Given the description of an element on the screen output the (x, y) to click on. 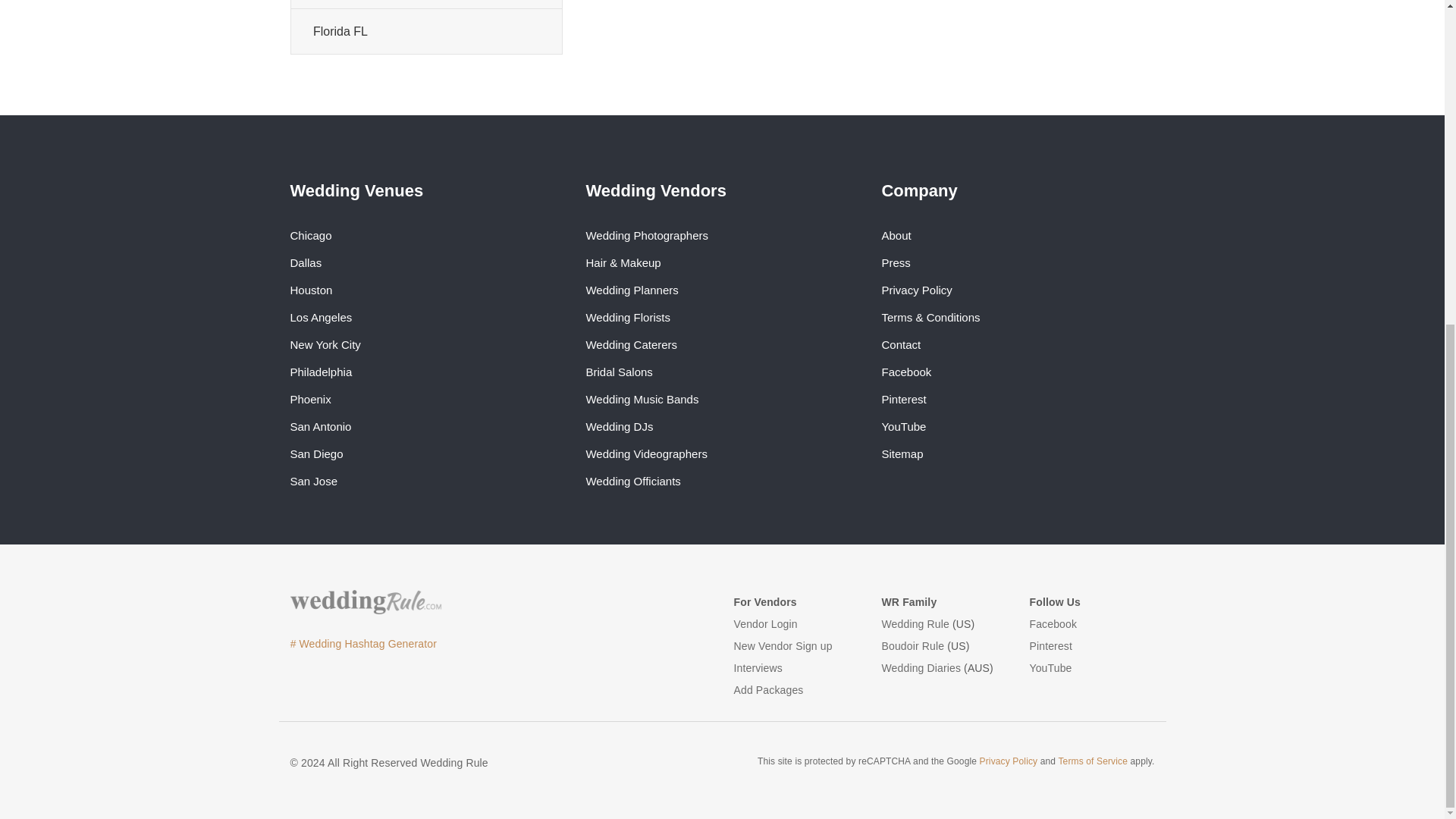
Chicago (310, 235)
